Given the description of an element on the screen output the (x, y) to click on. 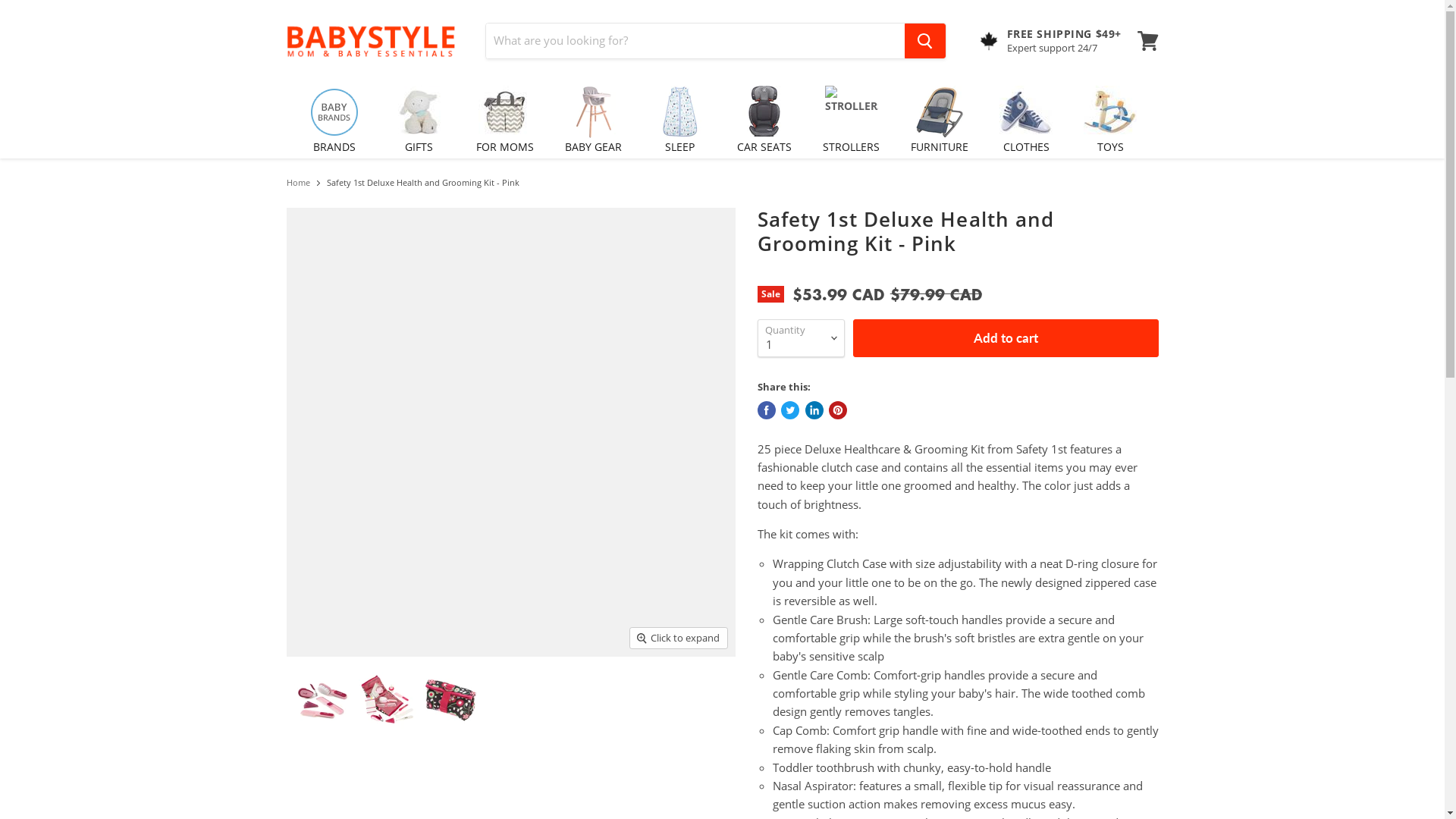
CLOTHES Element type: text (1025, 116)
Tweet on Twitter Element type: text (790, 410)
TOYS Element type: text (1110, 116)
FOR MOMS Element type: text (504, 116)
Share on Facebook Element type: text (765, 410)
Home Element type: text (298, 183)
STROLLERS Element type: text (851, 116)
Pin on Pinterest Element type: text (837, 410)
BRANDS Element type: text (334, 116)
View cart Element type: text (1147, 40)
Share on LinkedIn Element type: text (814, 410)
SLEEP Element type: text (679, 116)
GIFTS Element type: text (418, 116)
Add to cart Element type: text (1005, 337)
CAR SEATS Element type: text (764, 116)
FURNITURE Element type: text (939, 116)
Click to expand Element type: text (677, 637)
BABY GEAR Element type: text (593, 116)
